Given the description of an element on the screen output the (x, y) to click on. 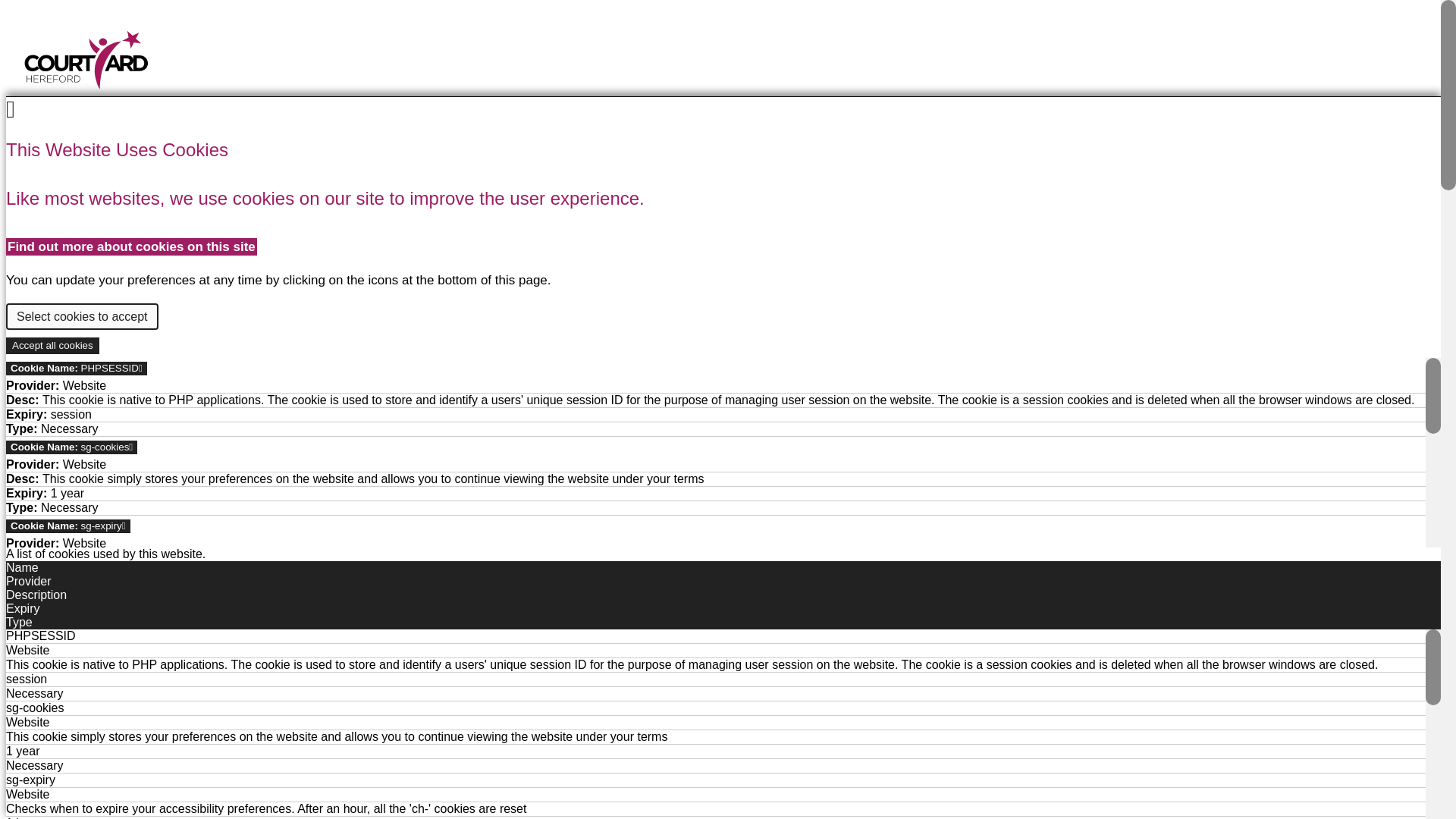
Close (24, 545)
01432 340555 (60, 123)
Account (719, 225)
01432 340555 (719, 322)
Select cookies to accept (81, 316)
Save changes (85, 545)
Basket (719, 163)
Log in (719, 225)
Search (48, 269)
Plan Your Visit (719, 163)
Accept all cookies (150, 341)
on (52, 345)
